Given the description of an element on the screen output the (x, y) to click on. 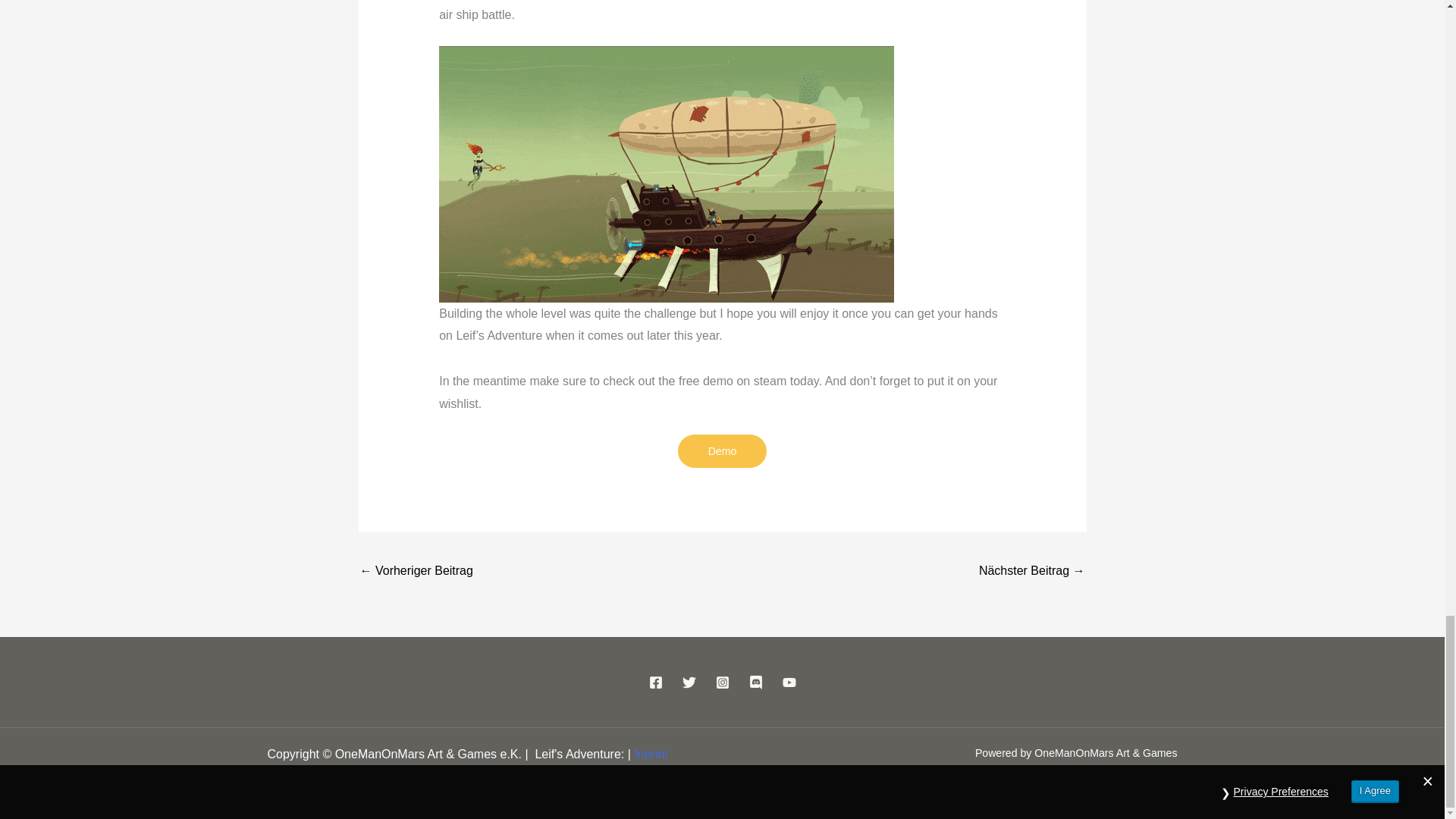
An unlikely hero! (1031, 571)
Hub Level Reconstrucion (415, 571)
Demo (722, 450)
Inprint (649, 753)
